Given the description of an element on the screen output the (x, y) to click on. 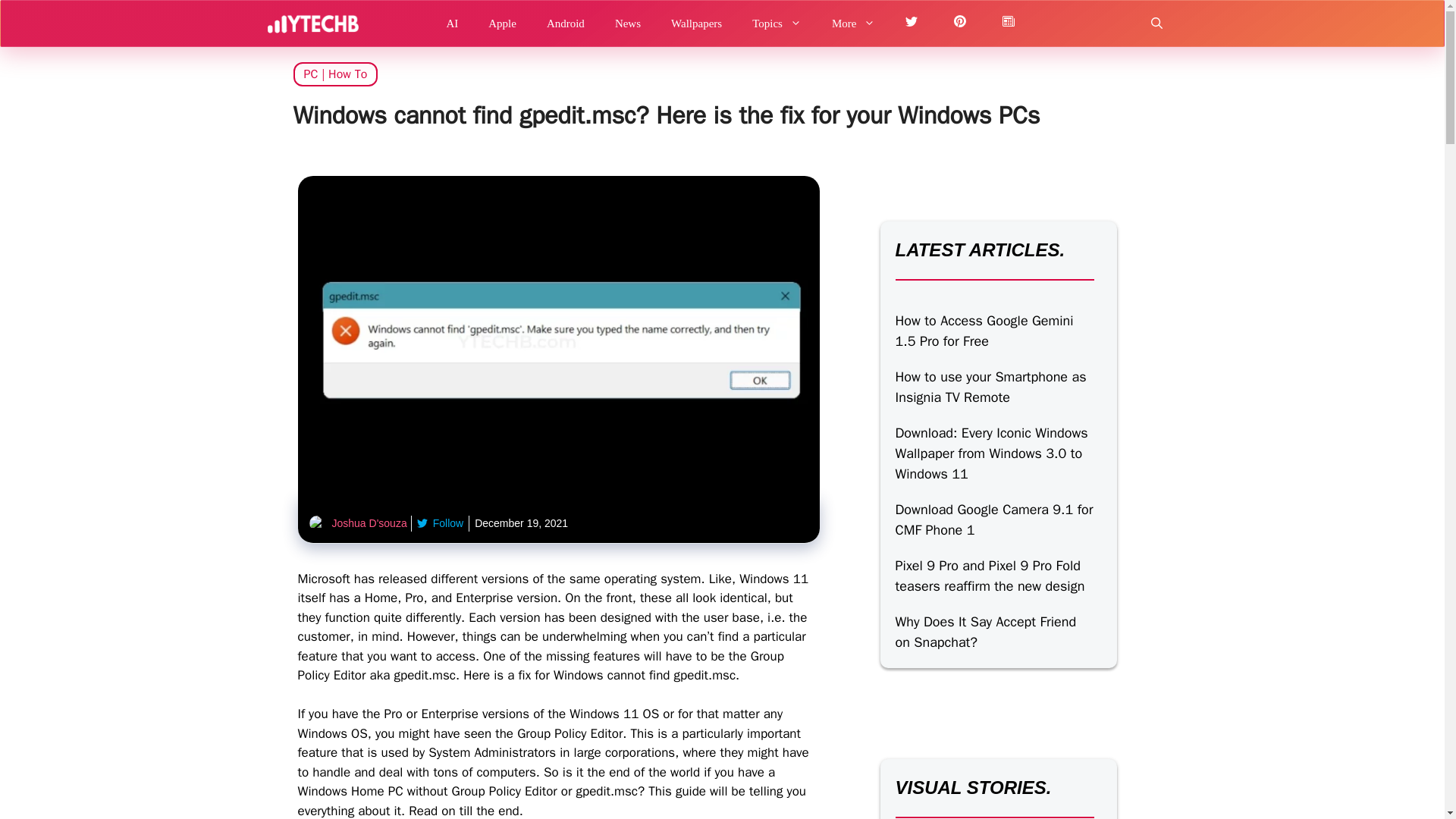
Wallpapers (696, 22)
PC (309, 73)
Apple (502, 22)
Joshua D'souza (369, 522)
How To (347, 73)
More (853, 22)
Android (565, 22)
Topics (776, 22)
AI (451, 22)
Follow (439, 523)
YTECHB (312, 22)
News (627, 22)
